Given the description of an element on the screen output the (x, y) to click on. 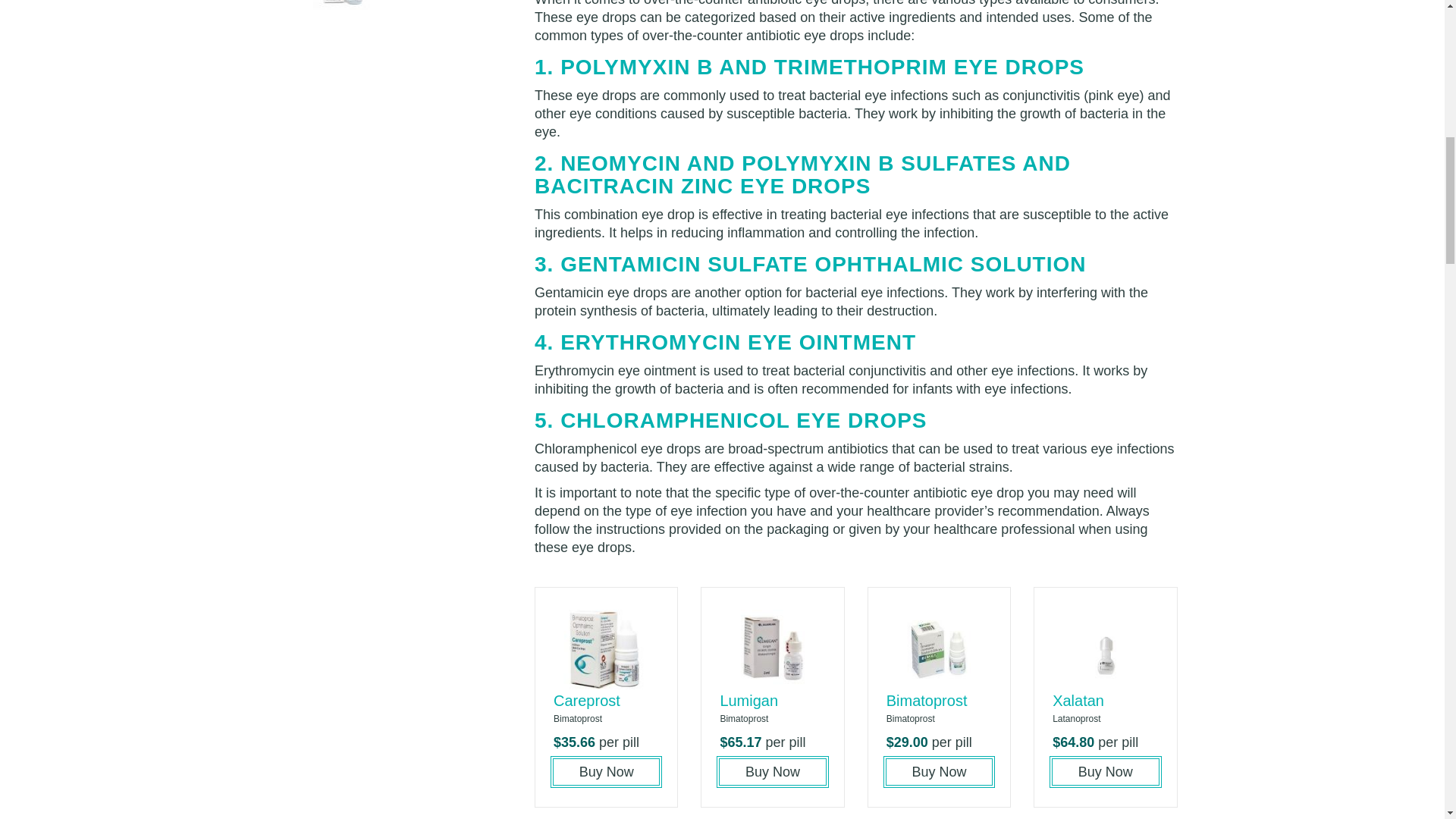
Careprost (586, 700)
Bimatoprost (927, 700)
Buy Now (606, 771)
Buy Now (938, 771)
Buy Now (1104, 771)
Xalatan (1077, 700)
Lumigan (748, 700)
Buy Now (772, 771)
